Given the description of an element on the screen output the (x, y) to click on. 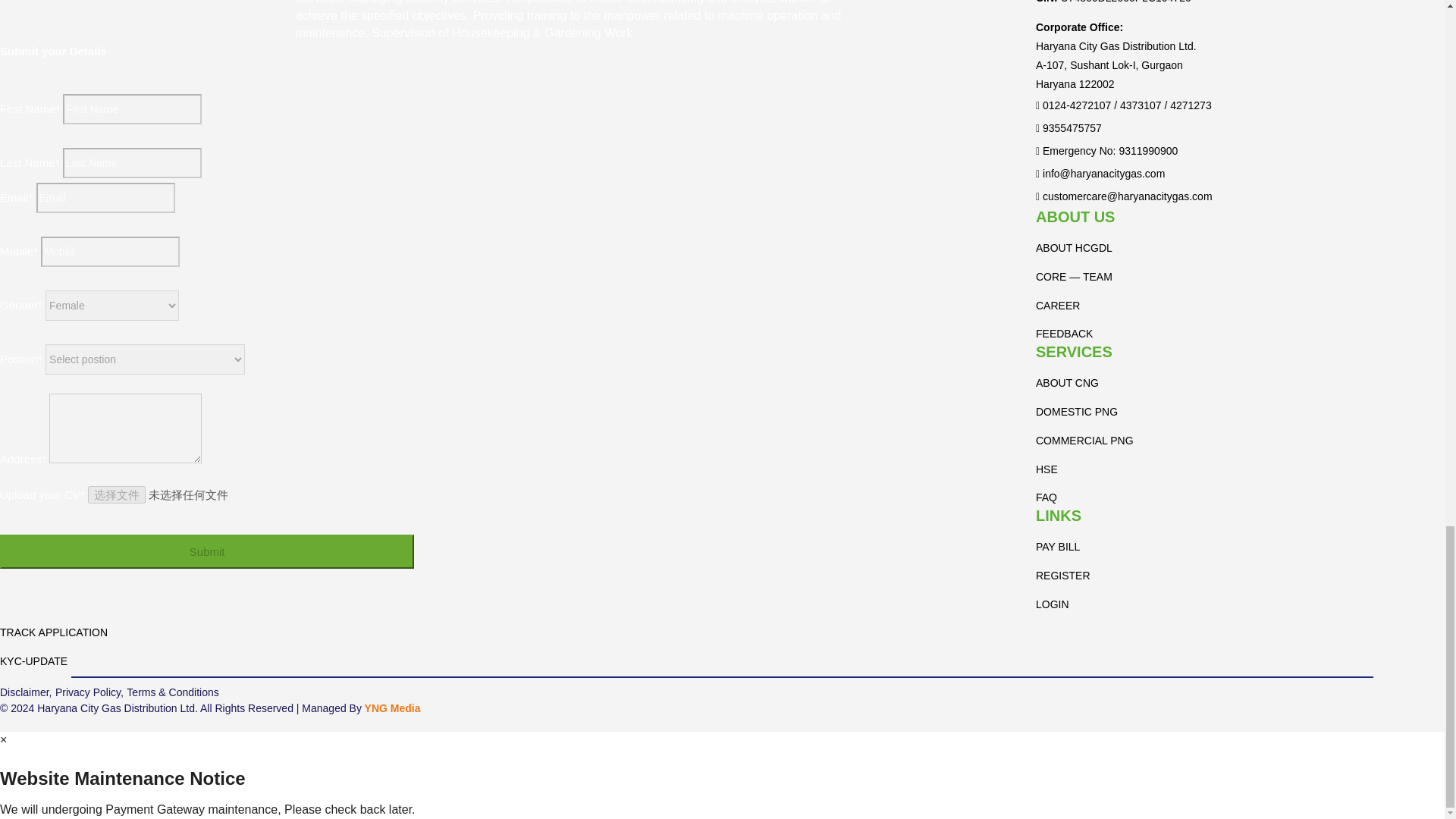
Submit (206, 551)
